Given the description of an element on the screen output the (x, y) to click on. 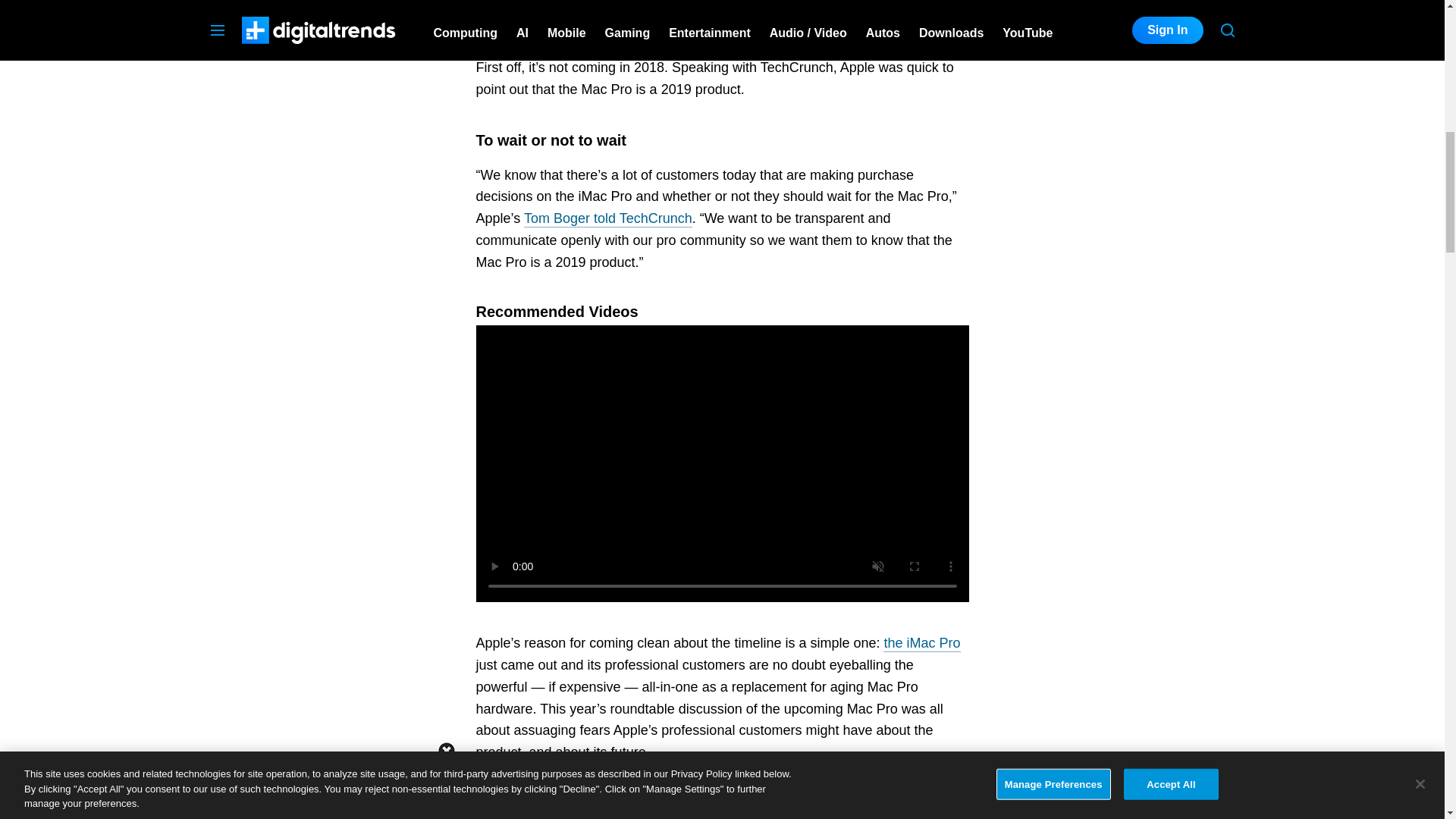
3rd party ad content (1120, 41)
